Given the description of an element on the screen output the (x, y) to click on. 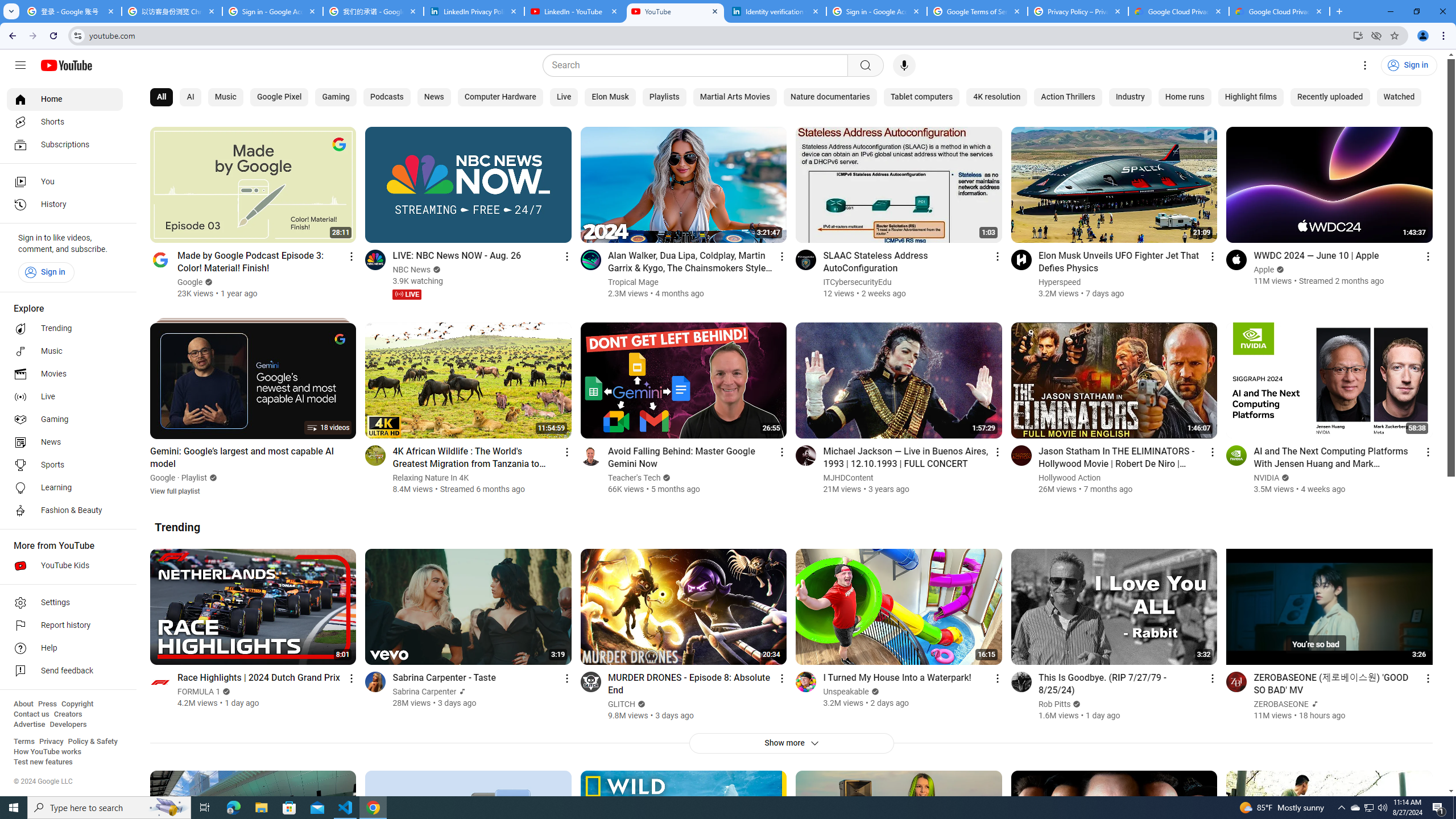
LinkedIn - YouTube (574, 11)
News (64, 441)
News (433, 97)
NVIDIA (1266, 477)
Send feedback (64, 671)
Learning (64, 487)
Developers (68, 724)
Contact us (31, 714)
